Given the description of an element on the screen output the (x, y) to click on. 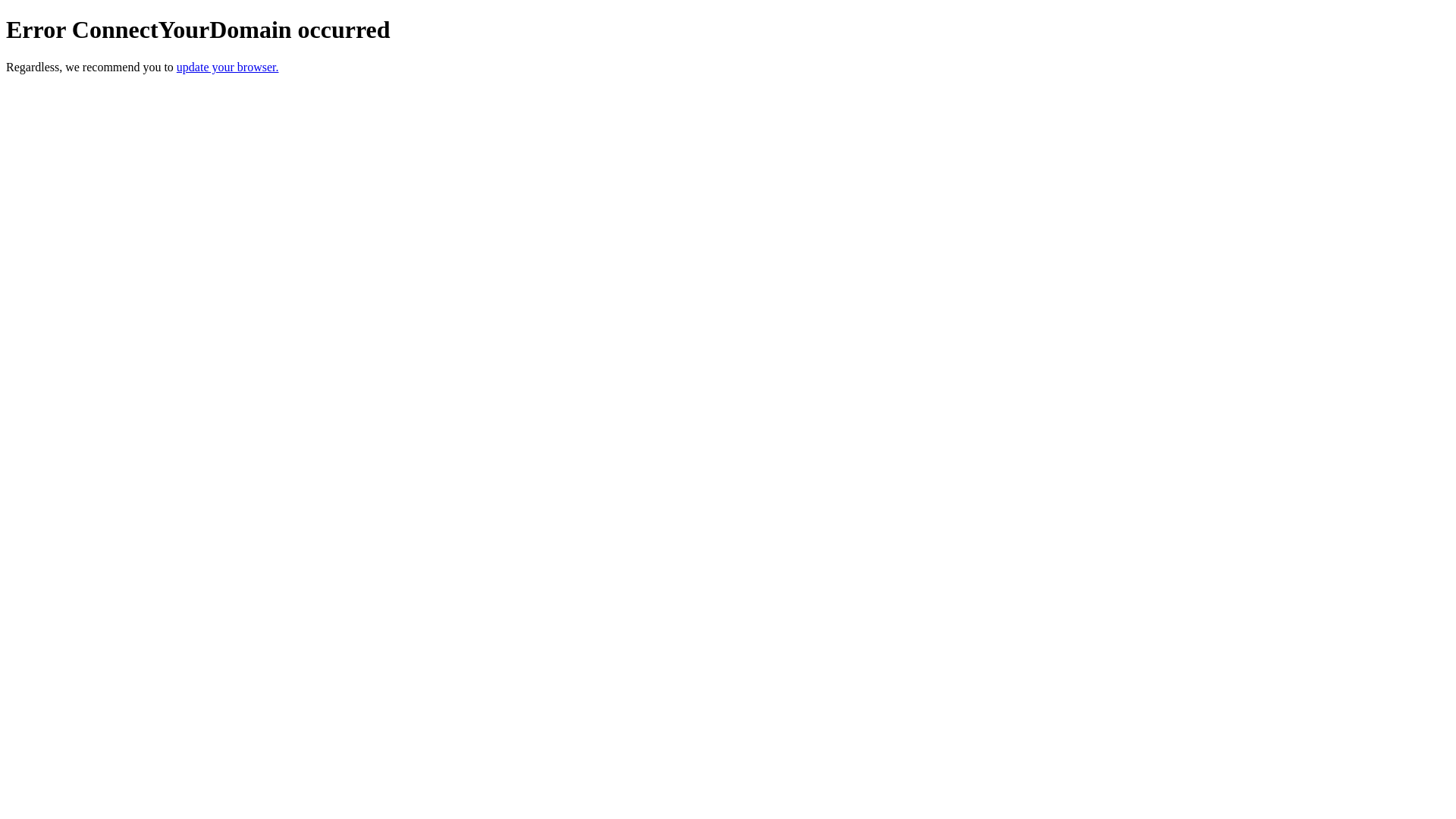
update your browser. Element type: text (227, 66)
